Given the description of an element on the screen output the (x, y) to click on. 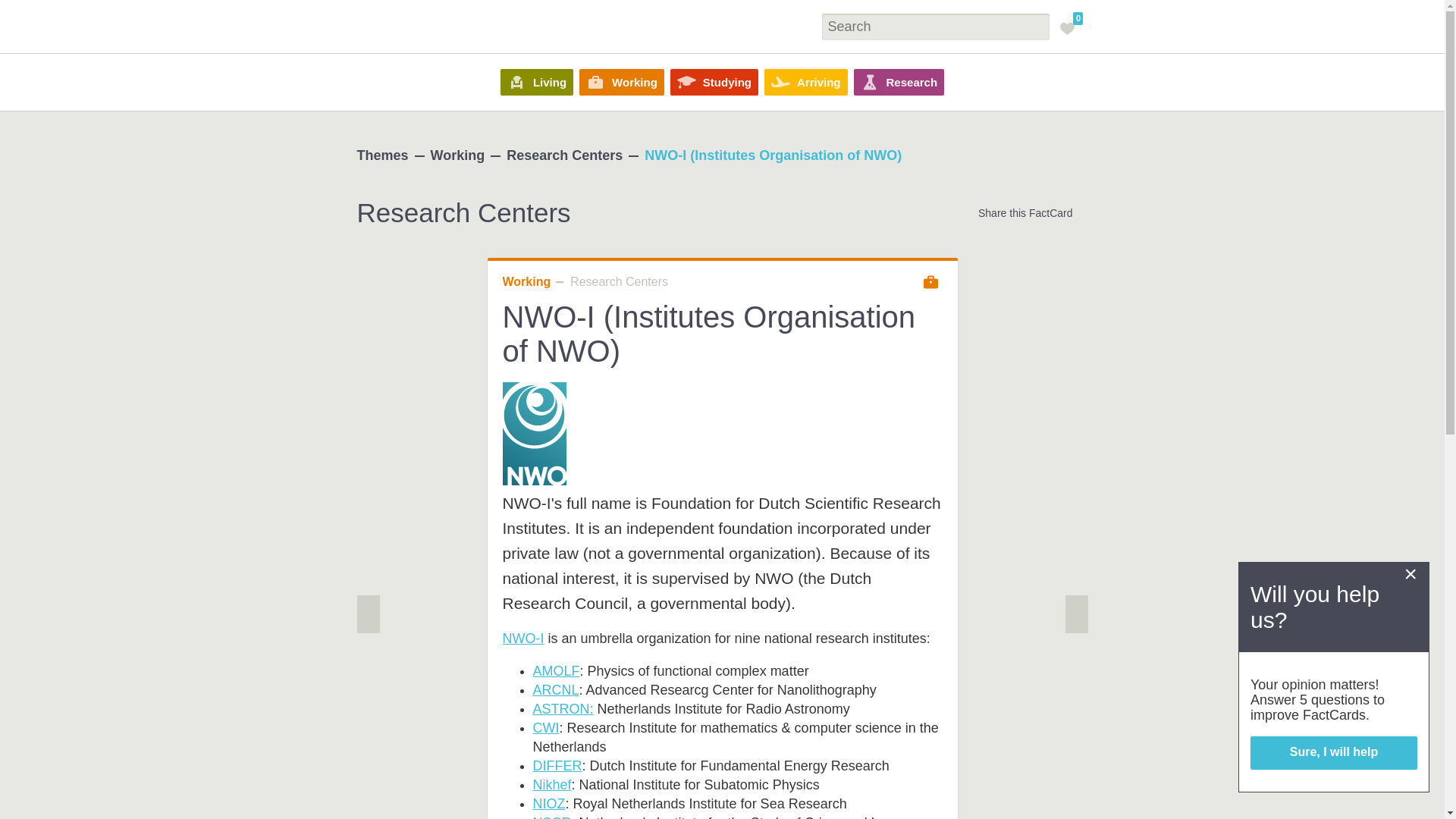
Studying (713, 81)
Working (621, 81)
Living (536, 81)
